Given the description of an element on the screen output the (x, y) to click on. 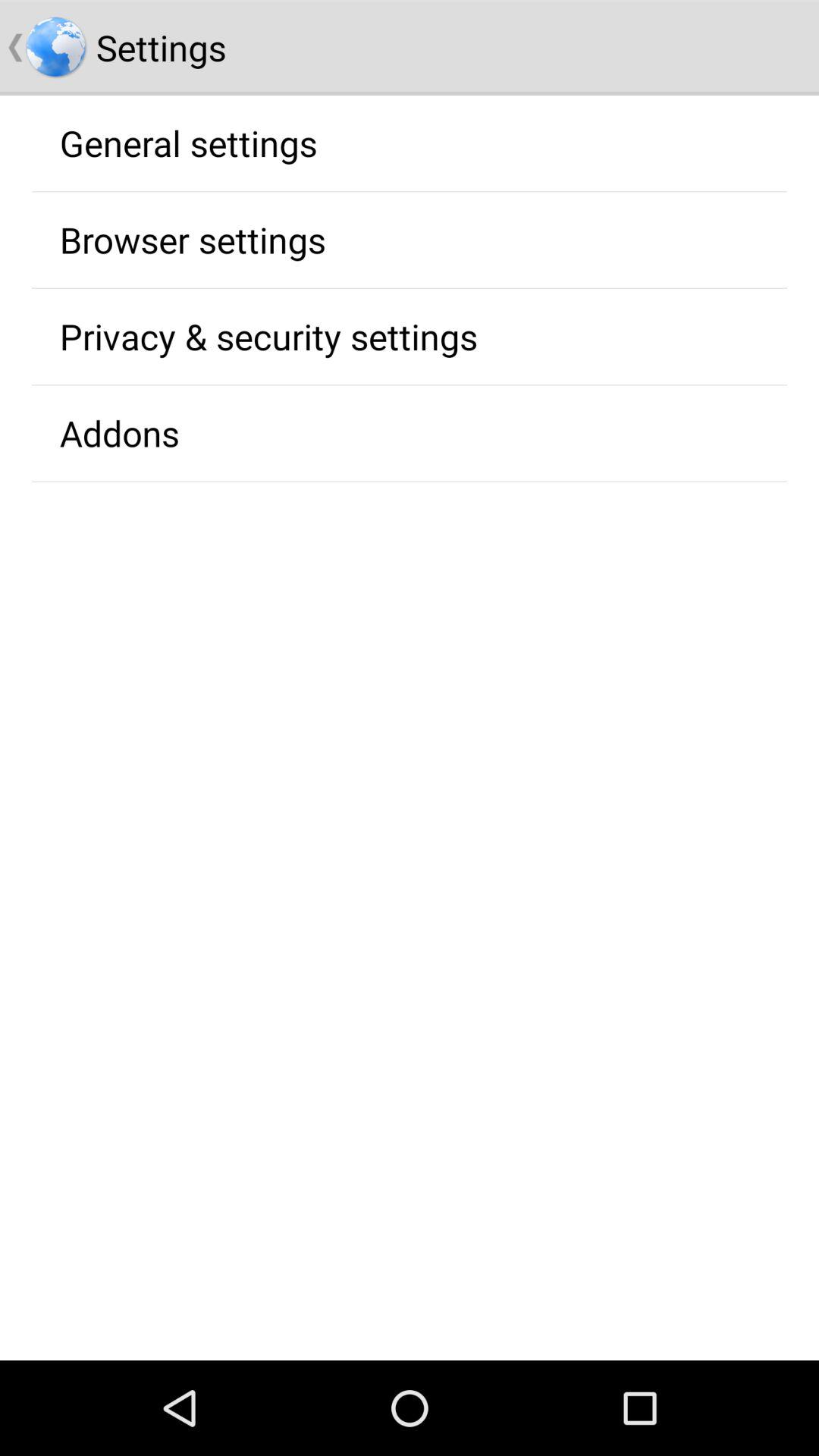
scroll until general settings (188, 142)
